Given the description of an element on the screen output the (x, y) to click on. 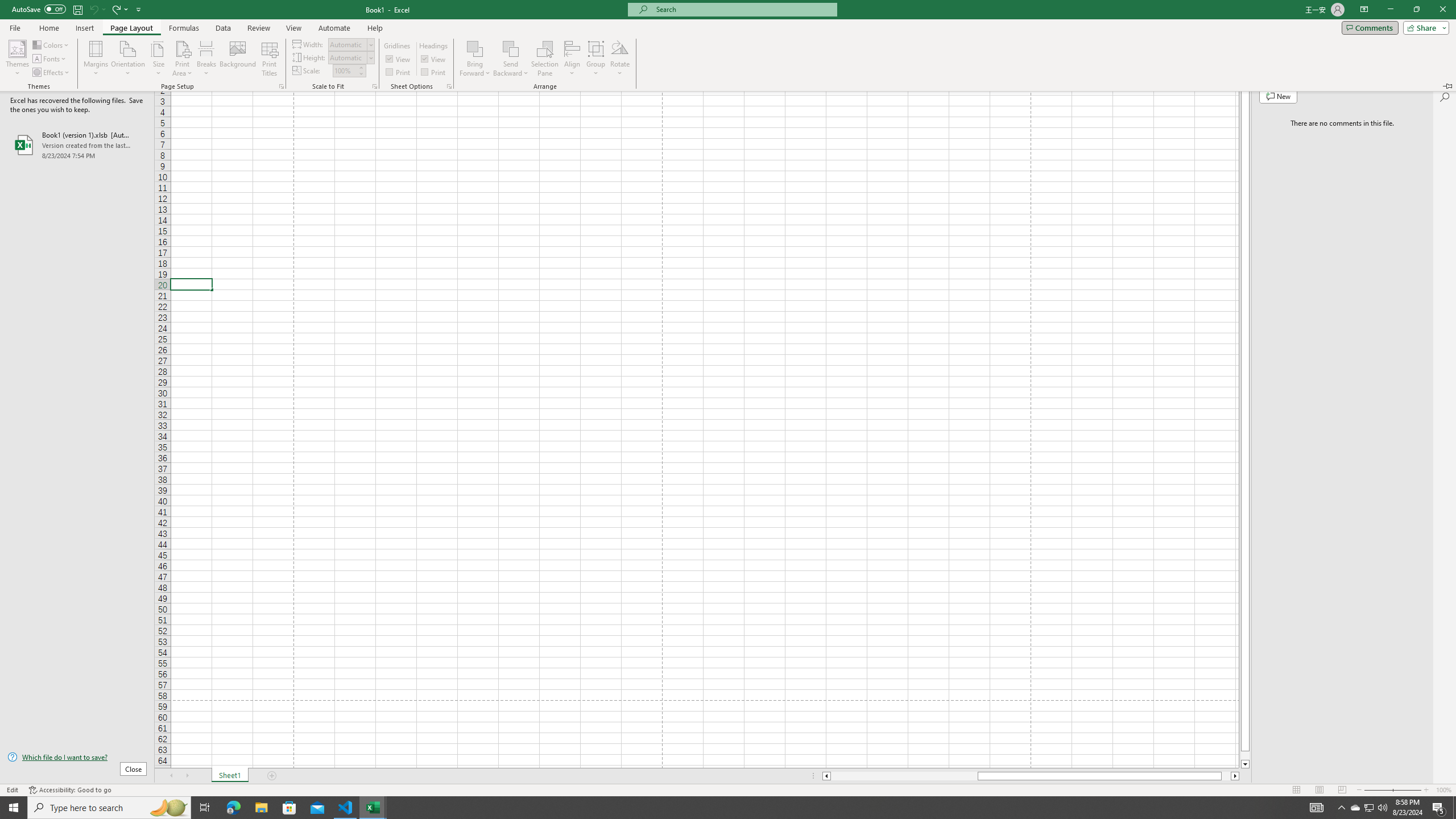
User Promoted Notification Area (1368, 807)
Show desktop (1454, 807)
Start (13, 807)
